Given the description of an element on the screen output the (x, y) to click on. 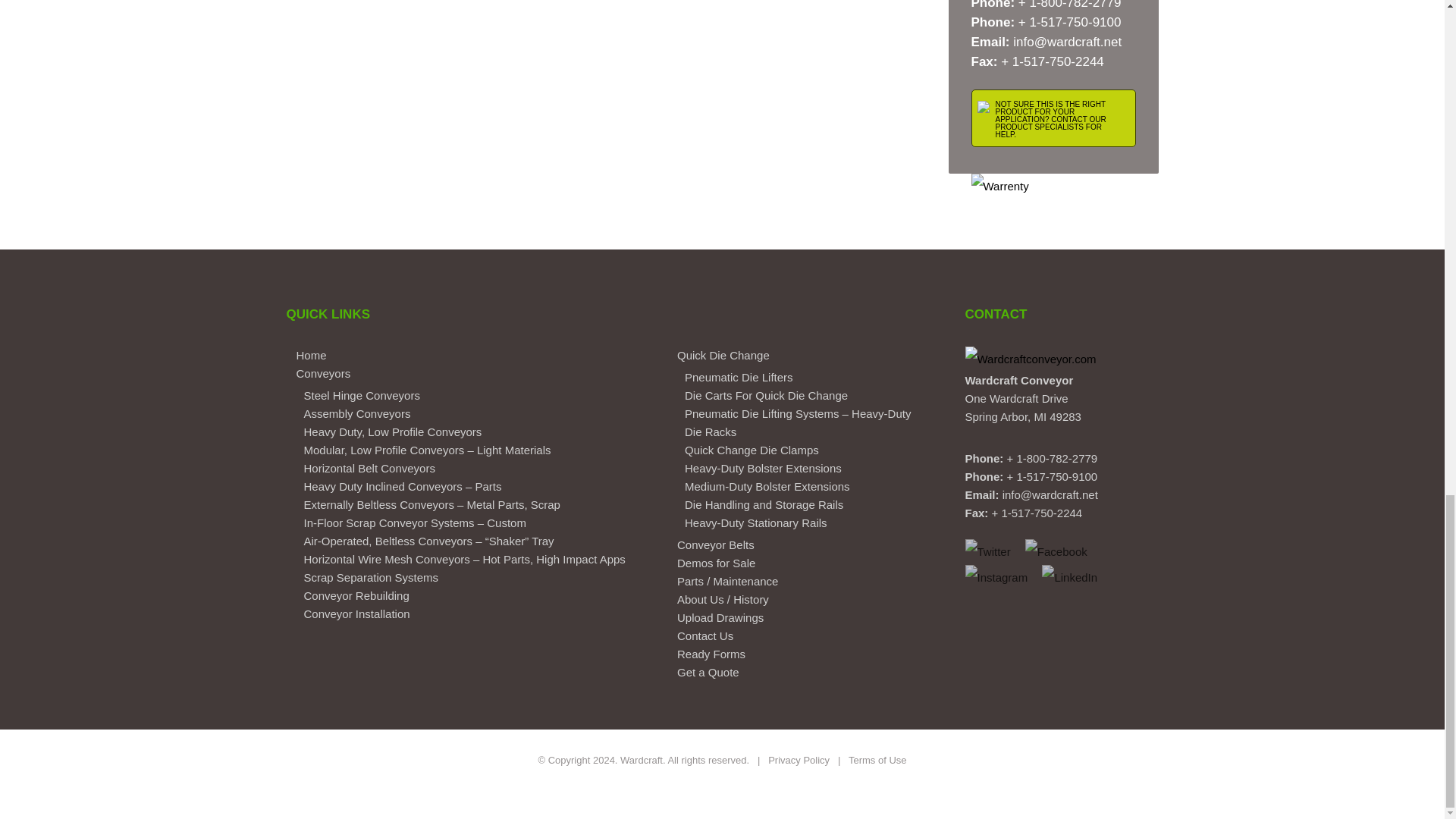
Facebook (1056, 551)
Wardcraftconveyor.com (1029, 358)
Twitter (986, 551)
Warrenty (999, 186)
